Given the description of an element on the screen output the (x, y) to click on. 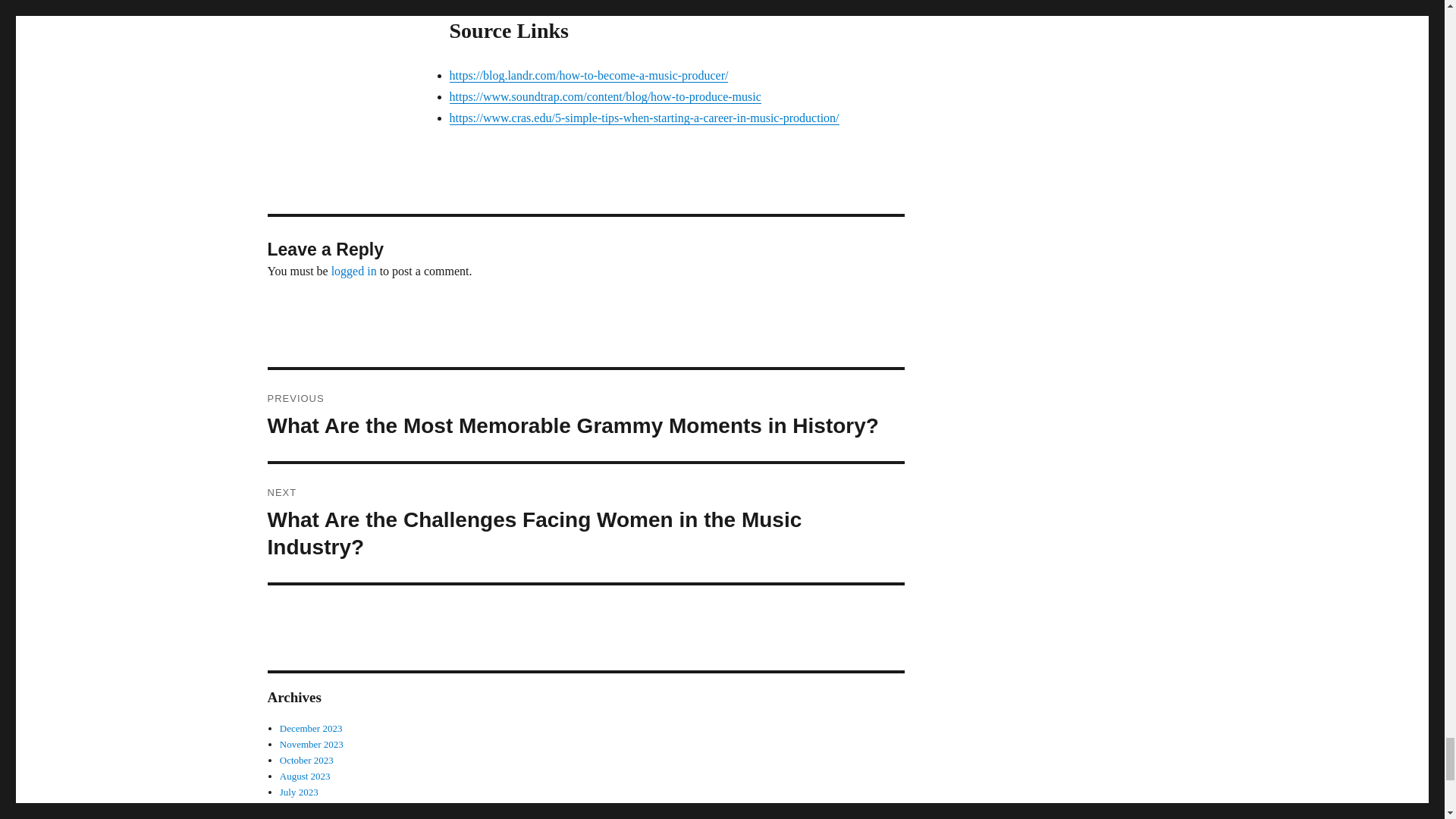
logged in (354, 270)
October 2023 (306, 759)
December 2023 (310, 727)
November 2023 (311, 744)
